Given the description of an element on the screen output the (x, y) to click on. 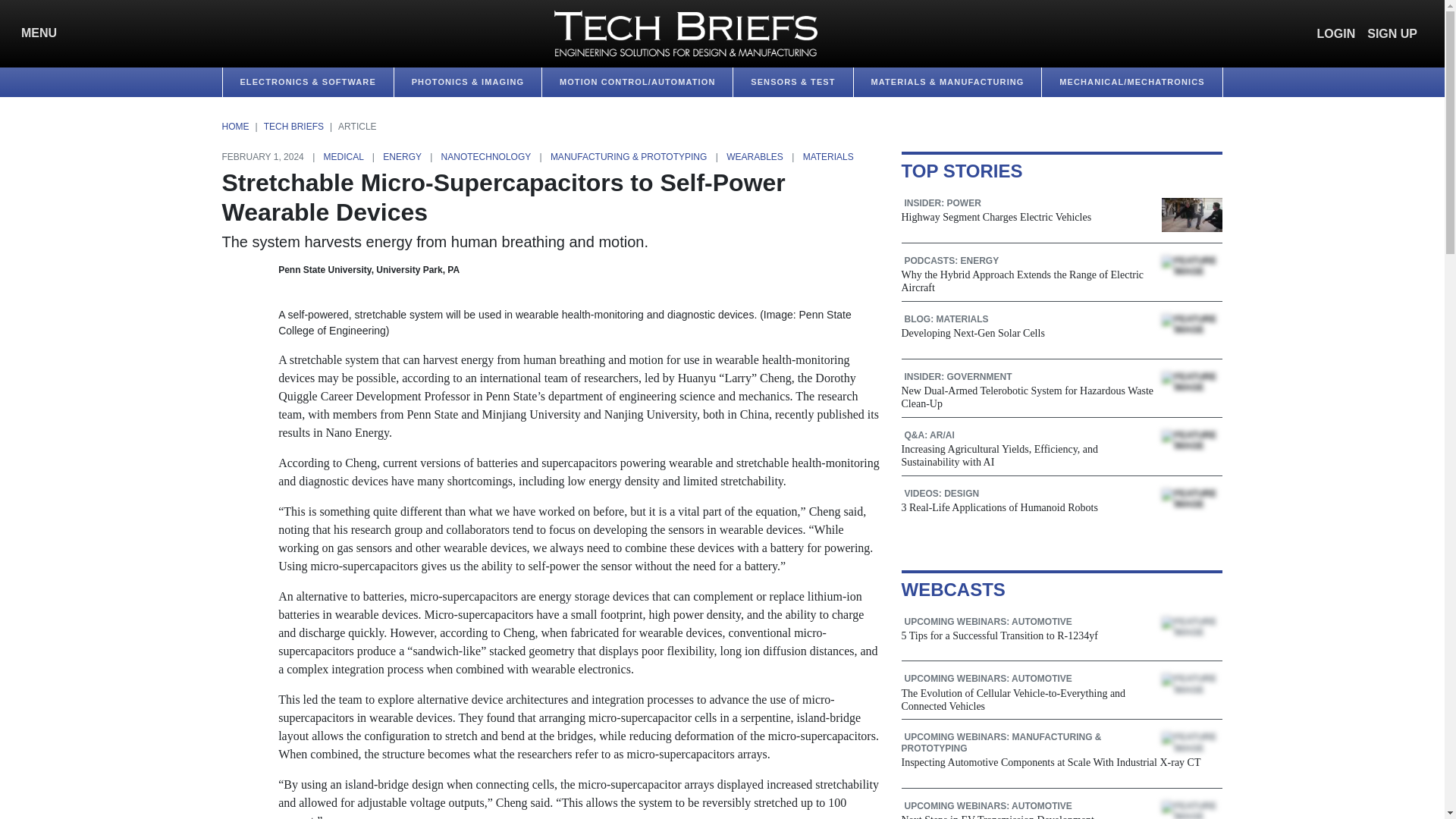
MENU (35, 33)
SIGN UP (1392, 32)
LOGIN (1336, 32)
